Given the description of an element on the screen output the (x, y) to click on. 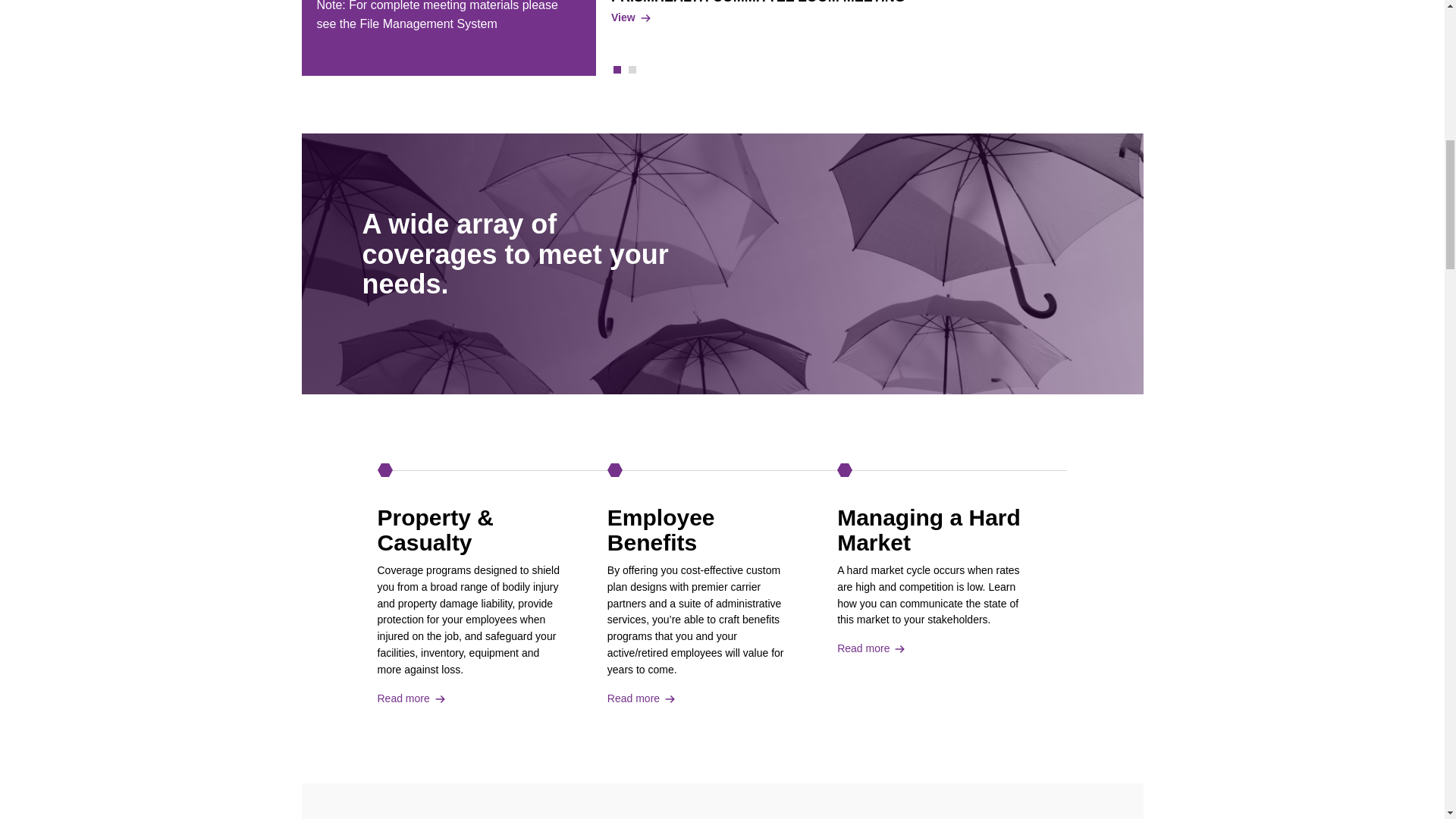
Read more (469, 699)
Read more (699, 699)
Read more (929, 648)
